Given the description of an element on the screen output the (x, y) to click on. 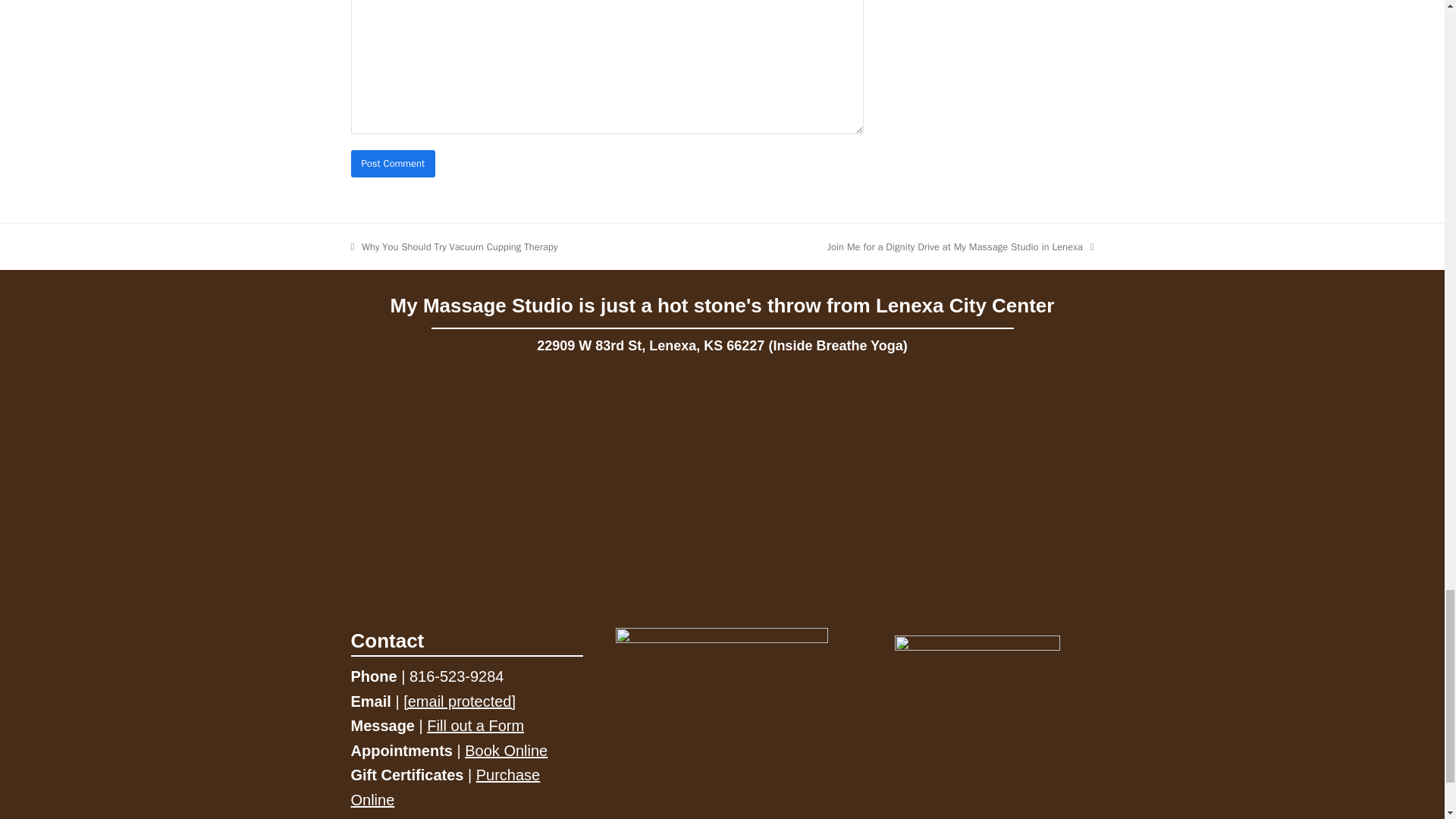
suzanne-Schaper (977, 727)
Logo-White (721, 653)
Post Comment (392, 162)
